Given the description of an element on the screen output the (x, y) to click on. 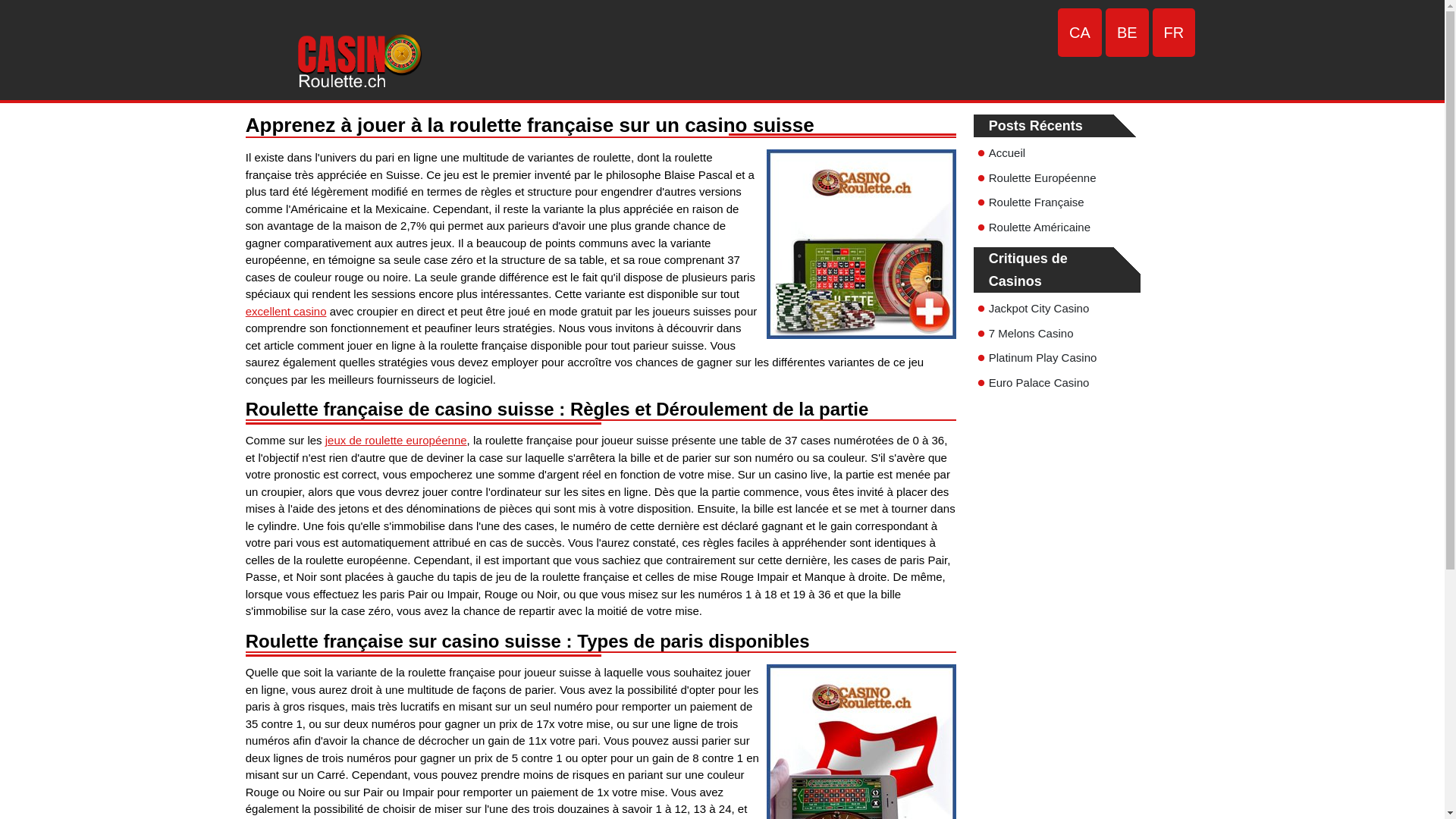
excellent casino Element type: text (285, 310)
Accueil Element type: text (1006, 152)
Euro Palace Casino Element type: text (1038, 382)
Platinum Play Casino Element type: text (1042, 357)
CA Element type: text (1079, 32)
Jackpot City Casino Element type: text (1038, 307)
FR Element type: text (1173, 32)
7 Melons Casino Element type: text (1030, 332)
BE Element type: text (1126, 32)
